Given the description of an element on the screen output the (x, y) to click on. 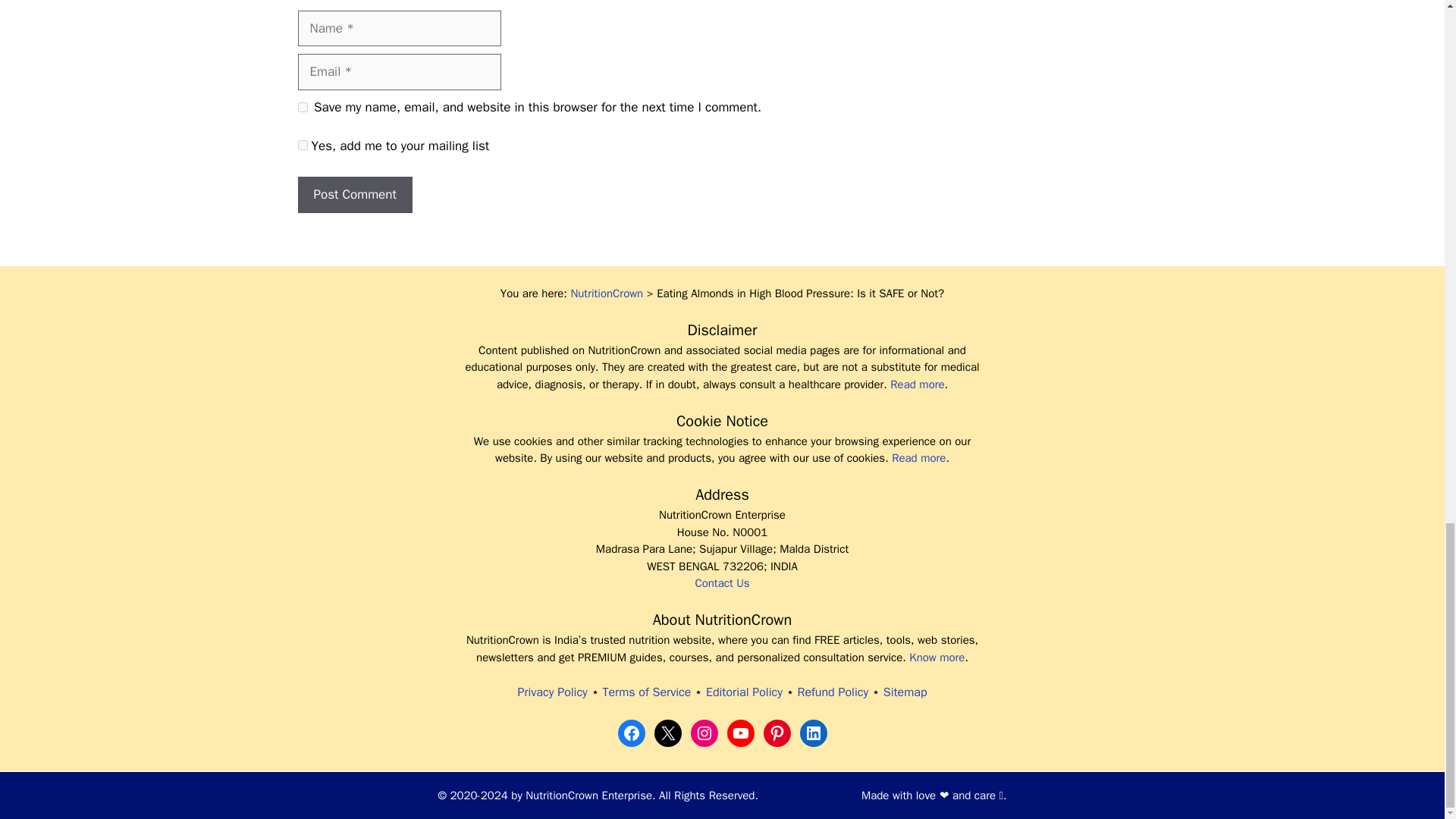
Sitemap (905, 692)
Refund Policy (833, 692)
Instagram (703, 732)
Read more (917, 458)
Post Comment (354, 194)
Facebook (631, 732)
Pinterest (776, 732)
Contact Us (721, 582)
LinkedIn (813, 732)
Read more (916, 384)
Privacy Policy (551, 692)
Terms of Service (646, 692)
Know more (935, 657)
Post Comment (354, 194)
NutritionCrown (606, 293)
